Given the description of an element on the screen output the (x, y) to click on. 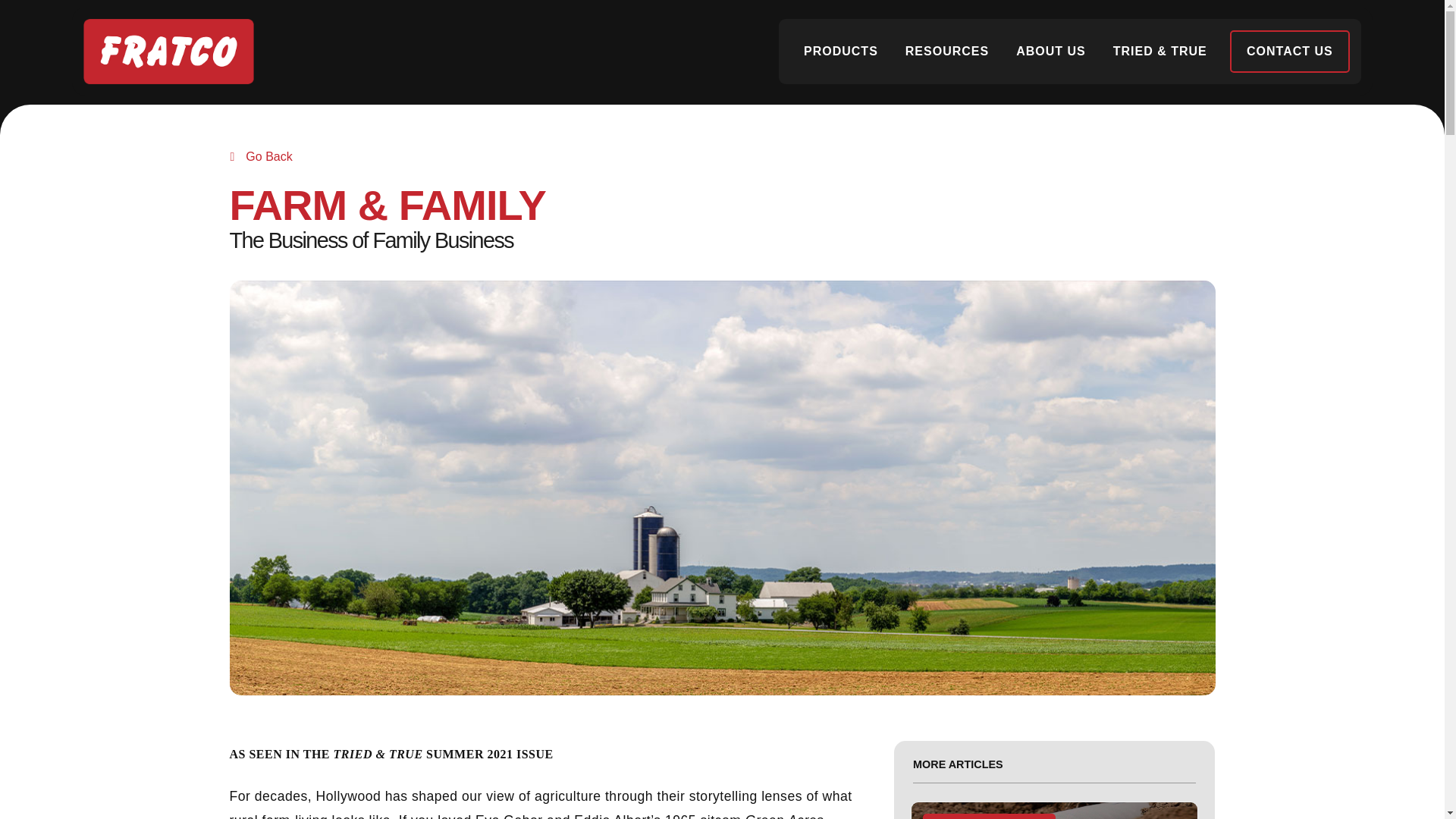
Fratco Logo (167, 51)
